Given the description of an element on the screen output the (x, y) to click on. 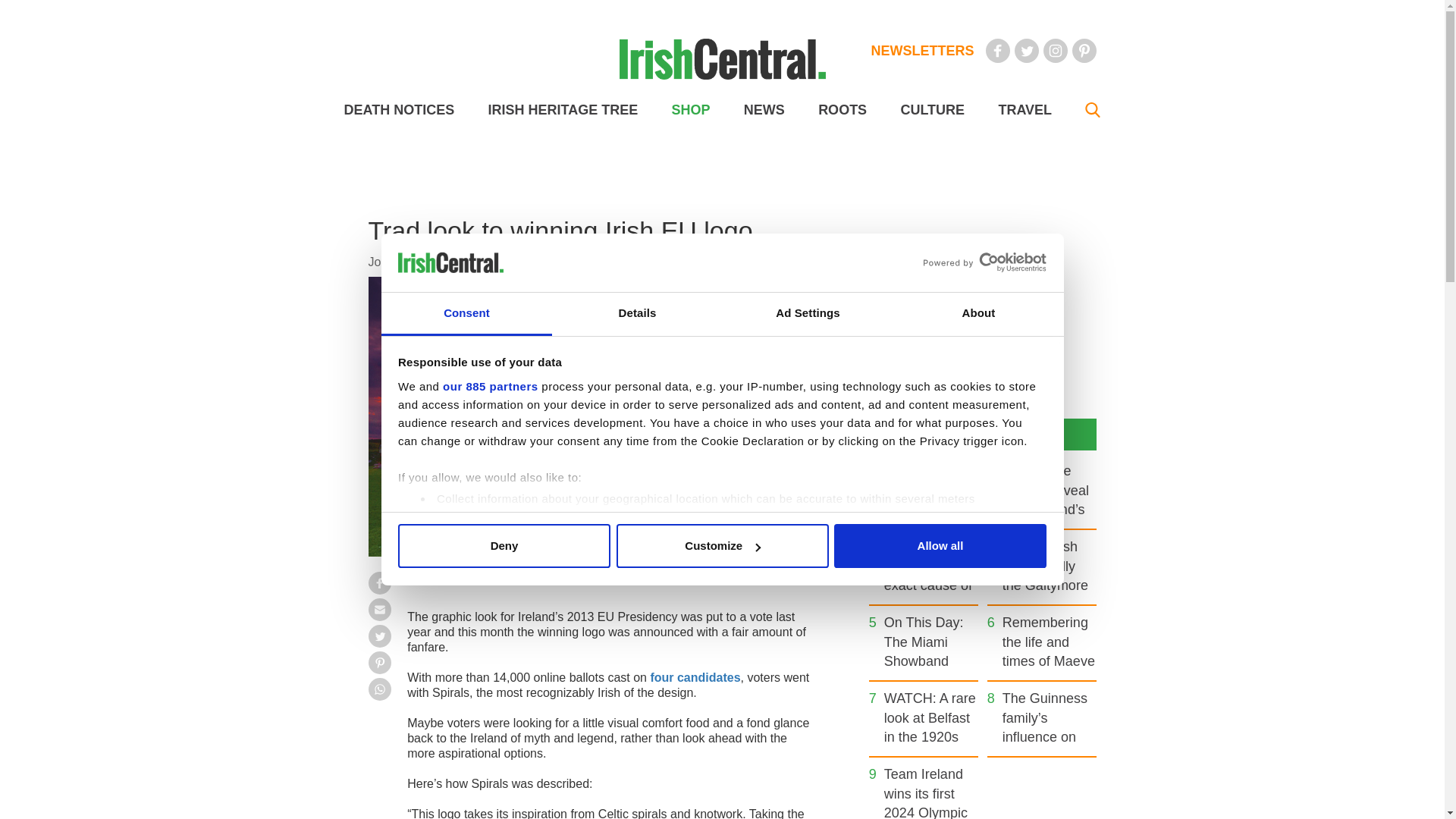
About (978, 313)
Consent (465, 313)
details section (927, 536)
Ad Settings (807, 313)
Details (636, 313)
our 885 partners (490, 386)
